Given the description of an element on the screen output the (x, y) to click on. 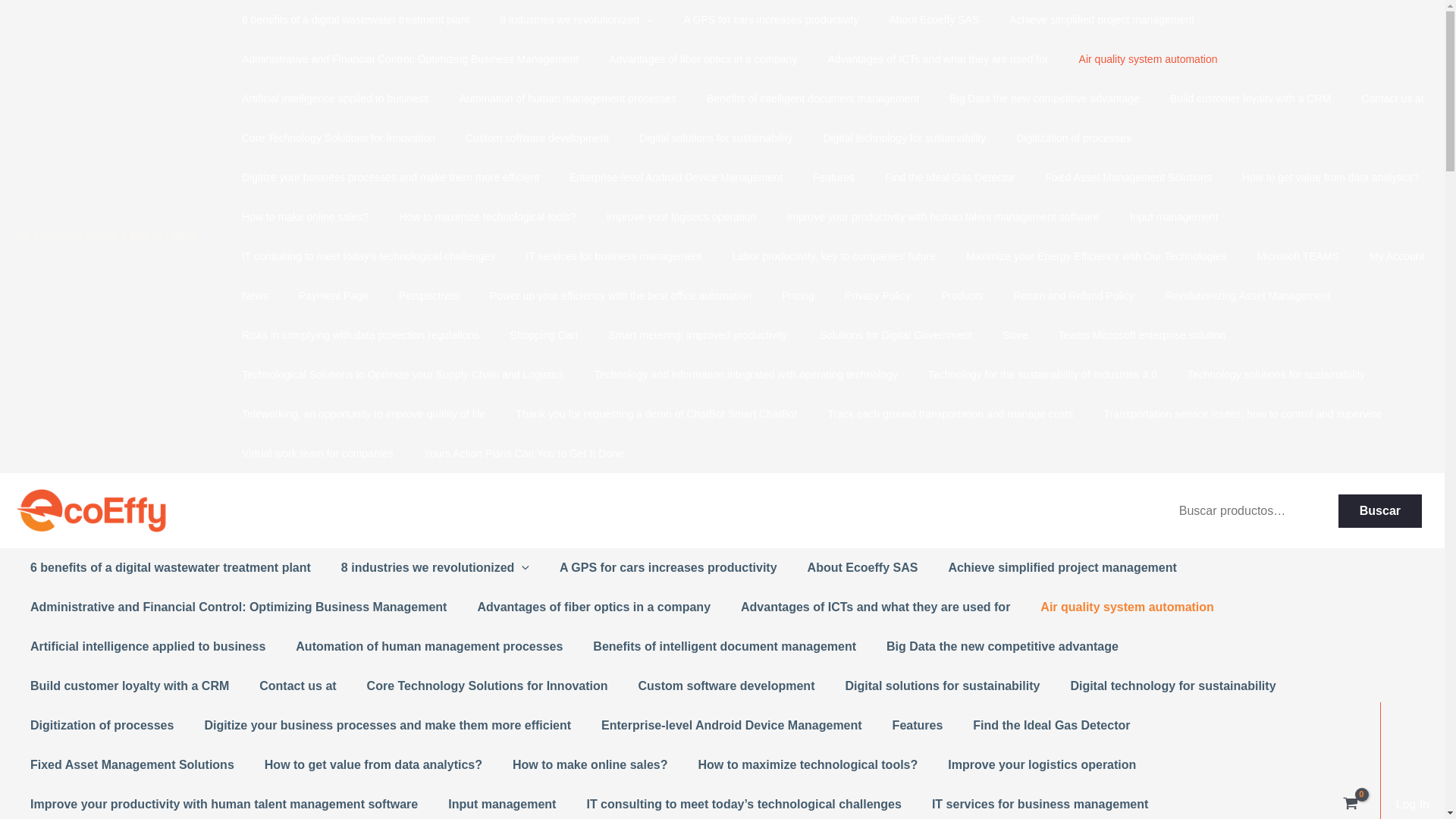
Advantages of fiber optics in a company (687, 58)
Advantages of ICTs and what they are used for (922, 58)
Air quality system automation (1132, 58)
Digitization of processes (1058, 137)
About Ecoeffy SAS (918, 19)
Enterprise-level Android Device Management (660, 177)
Benefits of intelligent document management (797, 97)
Digital solutions for sustainability (700, 137)
Find the Ideal Gas Detector (934, 177)
Achieve simplified project management (1085, 19)
Build customer loyalty with a CRM (1235, 97)
6 benefits of a digital wastewater treatment plant (339, 19)
Fixed Asset Management Solutions (1112, 177)
Features (818, 177)
